Given the description of an element on the screen output the (x, y) to click on. 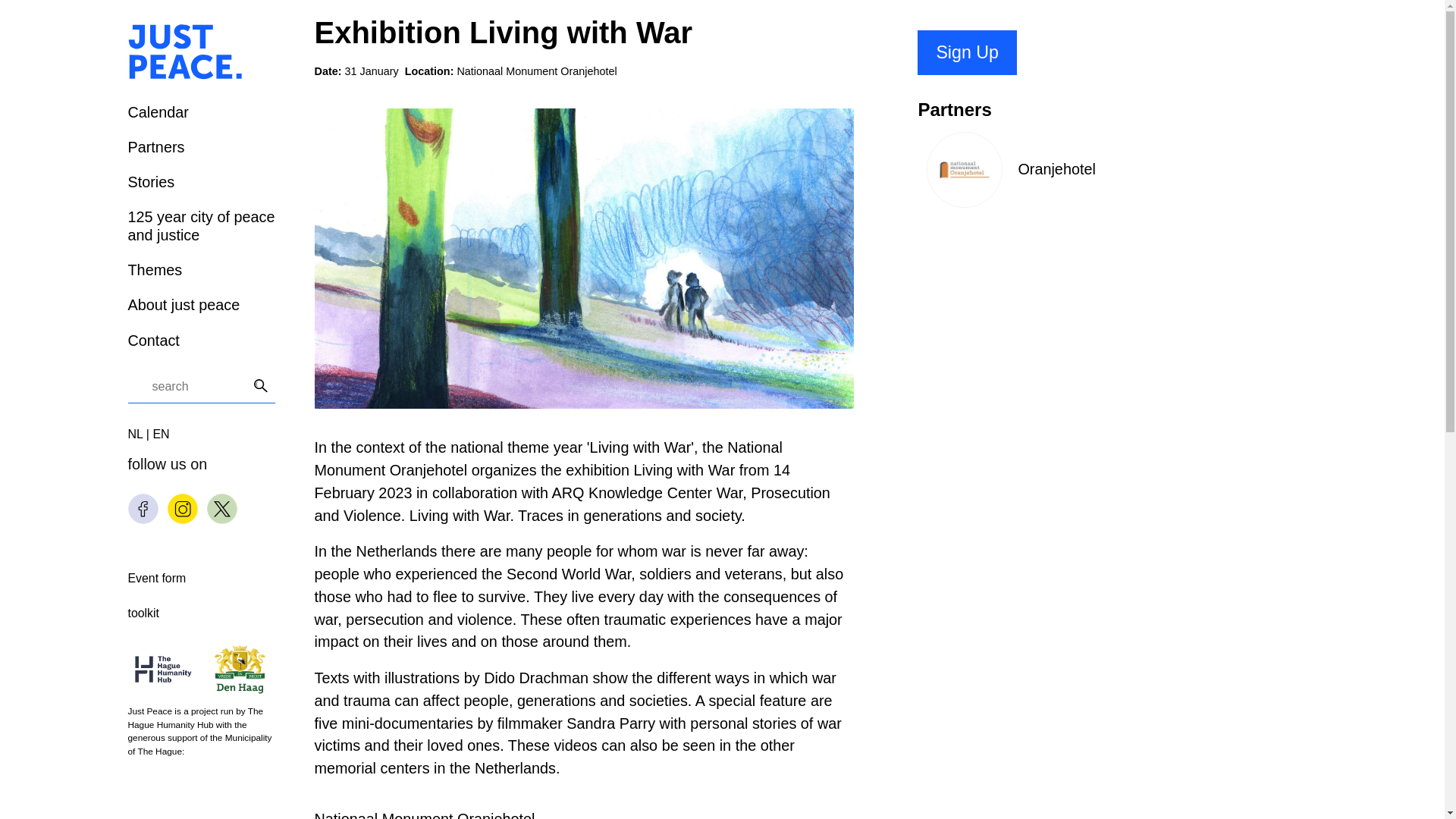
Calendar (157, 112)
About just peace (184, 304)
Oranjehotel (1006, 203)
Sign Up (966, 52)
Stories (151, 181)
EN (160, 433)
Contact (153, 340)
Instagram (181, 508)
Partners (156, 146)
toolkit (143, 612)
NL (136, 433)
Facebook (142, 508)
Event form (157, 577)
Twitter (220, 508)
Themes (155, 269)
